Given the description of an element on the screen output the (x, y) to click on. 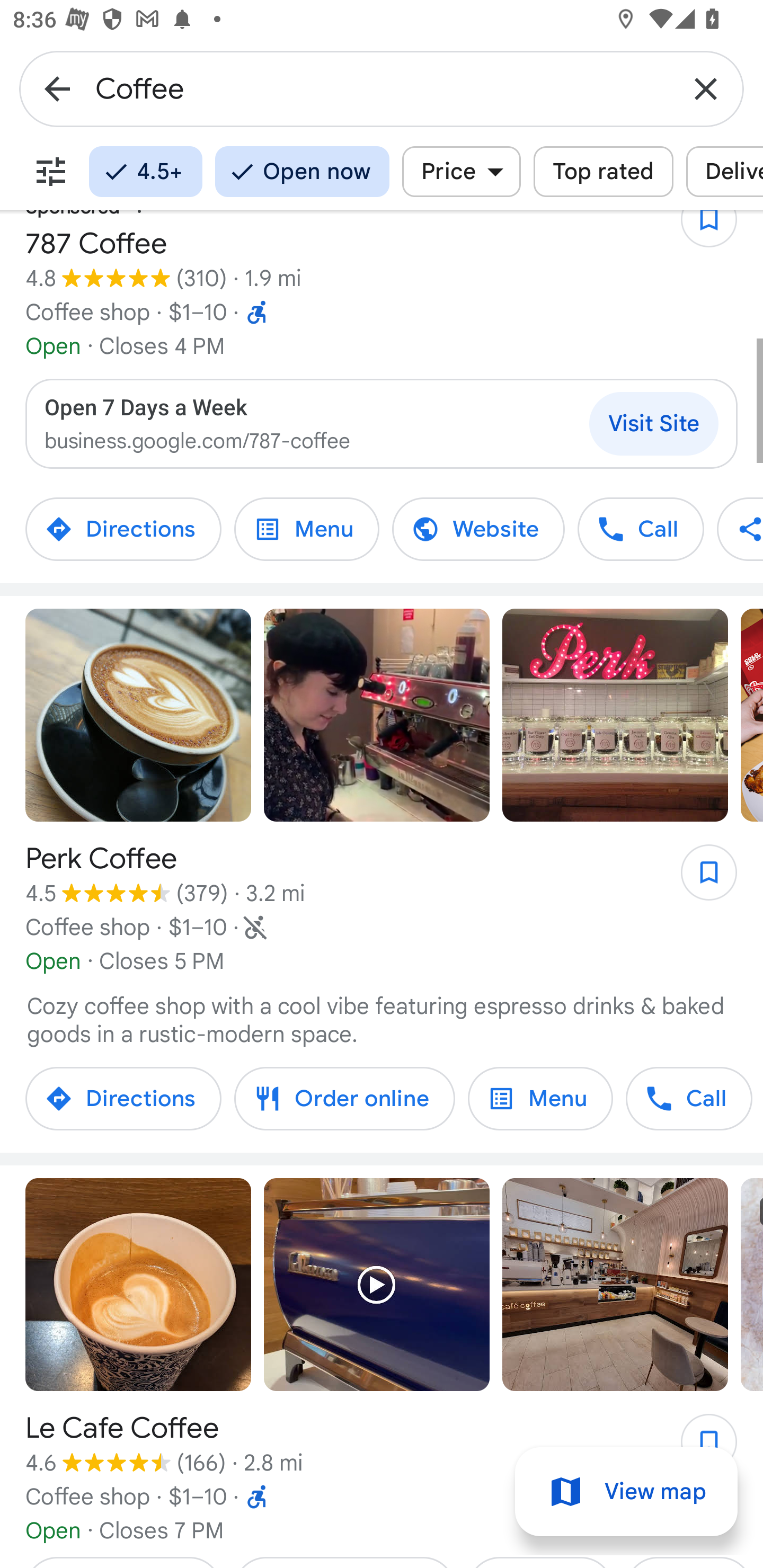
Back (57, 88)
Coffee (381, 88)
Clear (705, 88)
More filters (50, 171)
4.5+ (145, 171)
Open now (302, 171)
Price (461, 171)
Top rated (603, 171)
Delivery Delivery Delivery (724, 171)
787 Coffee Menu Menu 787 Coffee Menu (306, 528)
Website (478, 528)
Photo (138, 714)
Video (376, 714)
Photo (614, 714)
Save Perk Coffee to lists (699, 878)
Order online Order online Order online (344, 1097)
Perk Coffee Menu Menu Perk Coffee Menu (539, 1097)
Photo (138, 1283)
Video (376, 1283)
Photo (614, 1283)
View map Map view (626, 1491)
